Given the description of an element on the screen output the (x, y) to click on. 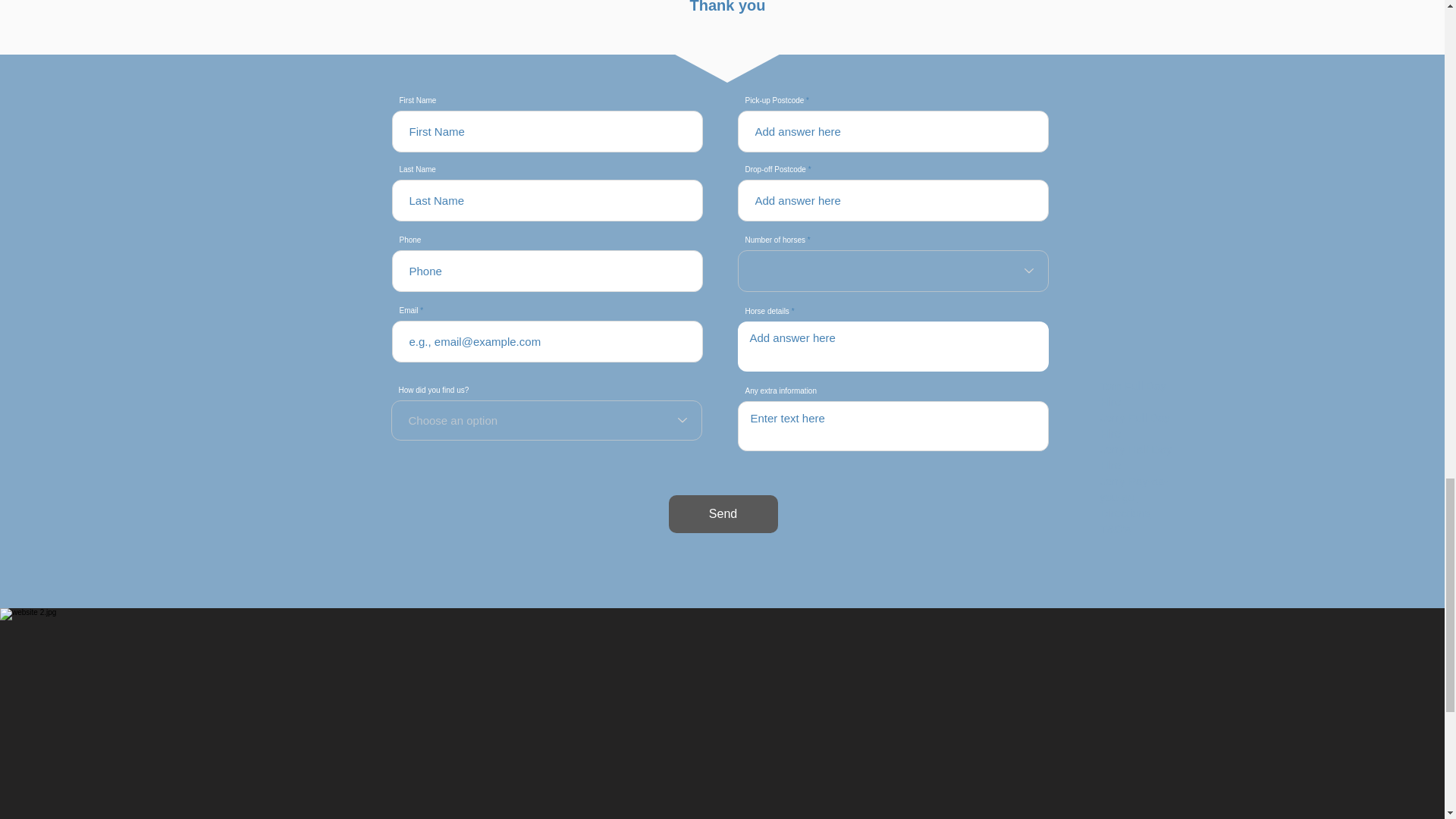
Jerry Half Day Hire (1135, 457)
Directions (1124, 512)
Send (722, 514)
Tom Full Day Hire (1132, 393)
Jerry Pay-as-you-go  (1133, 489)
Jerry Full Day Hire (1134, 425)
